Given the description of an element on the screen output the (x, y) to click on. 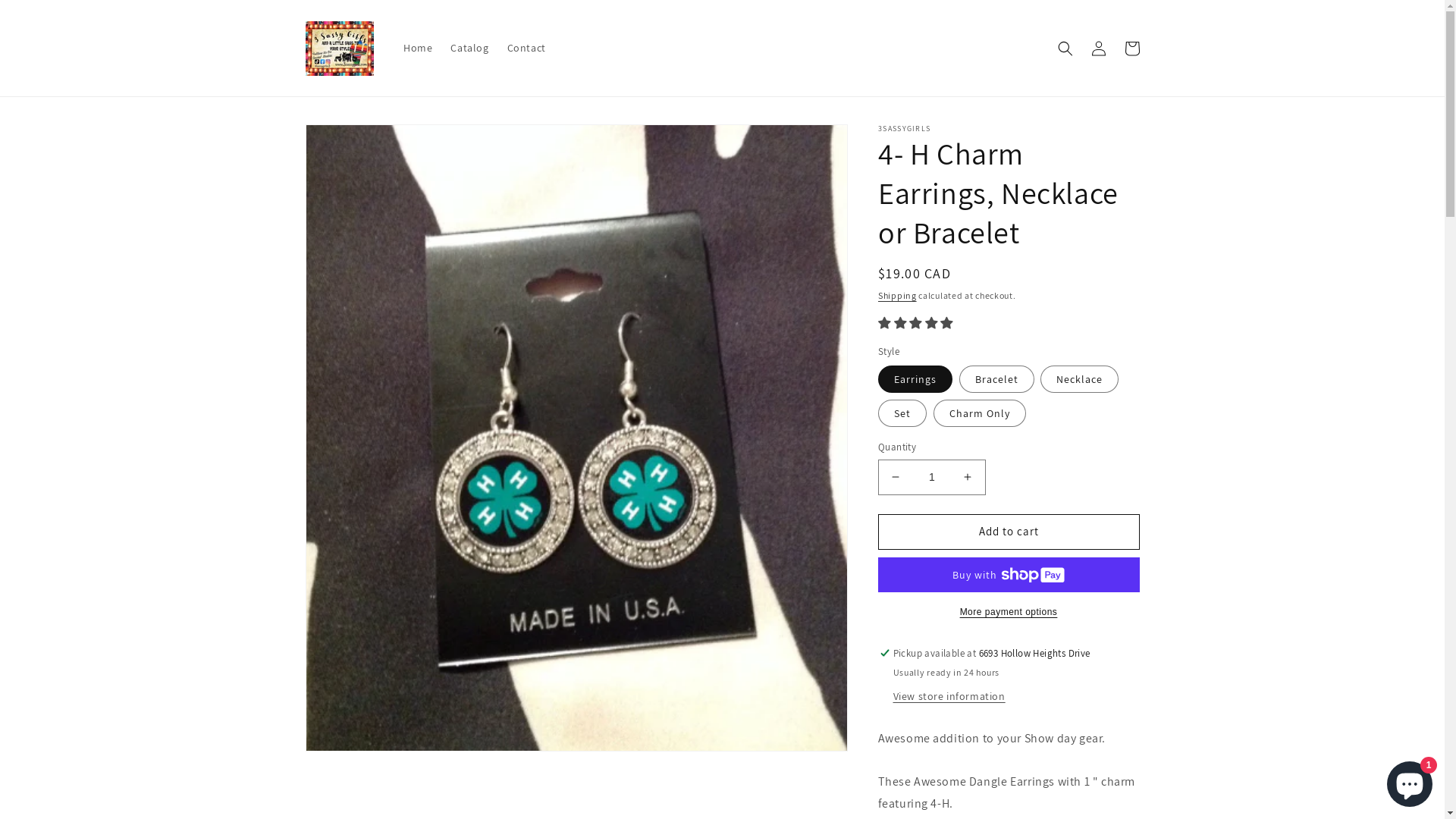
Log in Element type: text (1097, 48)
Shopify online store chat Element type: hover (1409, 780)
Cart Element type: text (1131, 48)
Contact Element type: text (526, 47)
Home Element type: text (417, 47)
Skip to product information Element type: text (350, 141)
More payment options Element type: text (1008, 611)
Catalog Element type: text (469, 47)
View store information Element type: text (949, 696)
Shipping Element type: text (897, 295)
Add to cart Element type: text (1008, 531)
